Given the description of an element on the screen output the (x, y) to click on. 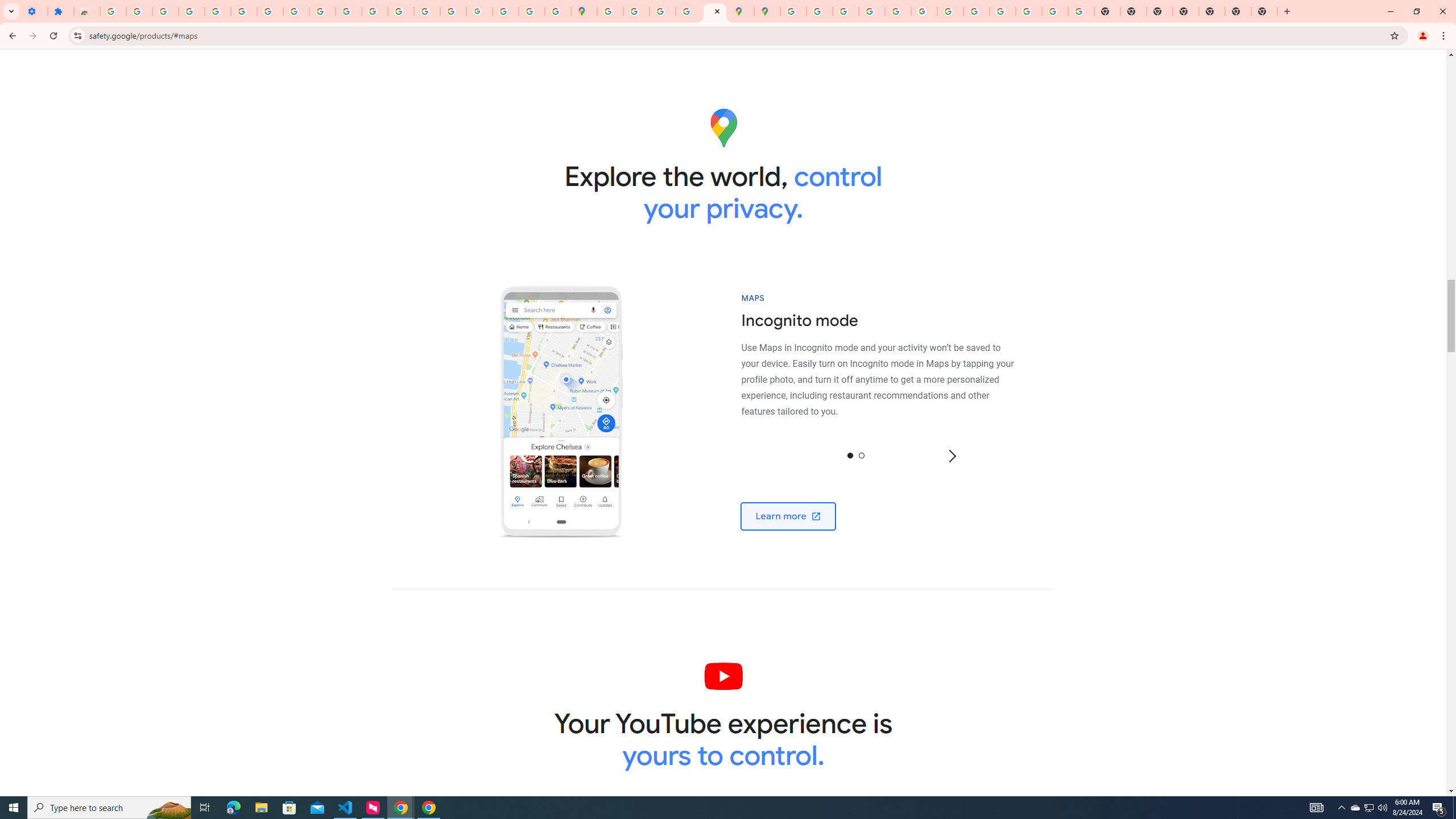
Google Maps (584, 11)
Create your Google Account (663, 11)
Learn more about Maps (788, 515)
Delete photos & videos - Computer - Google Photos Help (165, 11)
Privacy Help Center - Policies Help (871, 11)
